Given the description of an element on the screen output the (x, y) to click on. 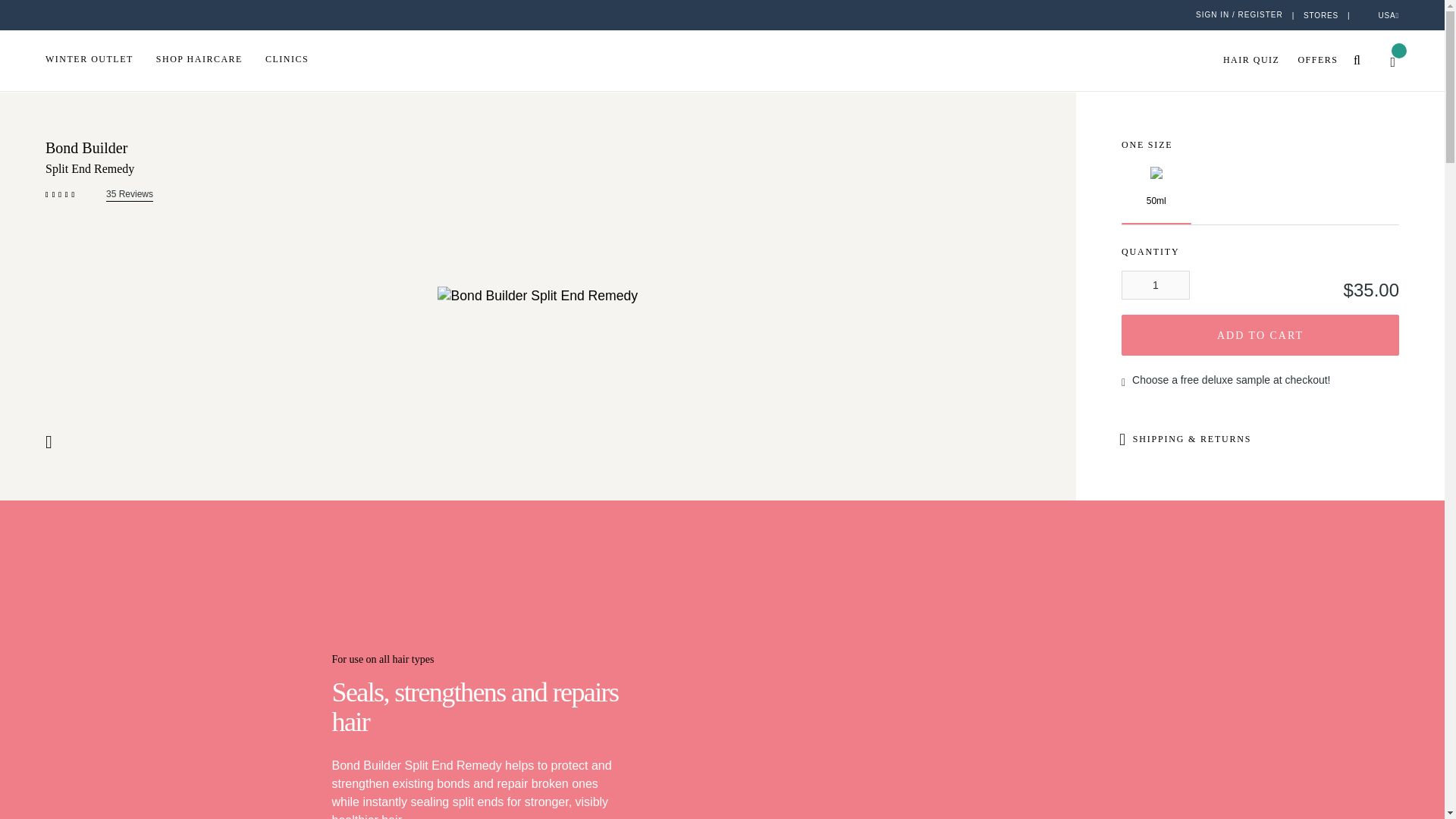
OFFERS (1326, 60)
SHOP HAIRCARE (209, 59)
WINTER OUTLET (100, 59)
1 (1155, 285)
STORES (1320, 14)
HAIR QUIZ (1260, 60)
